Given the description of an element on the screen output the (x, y) to click on. 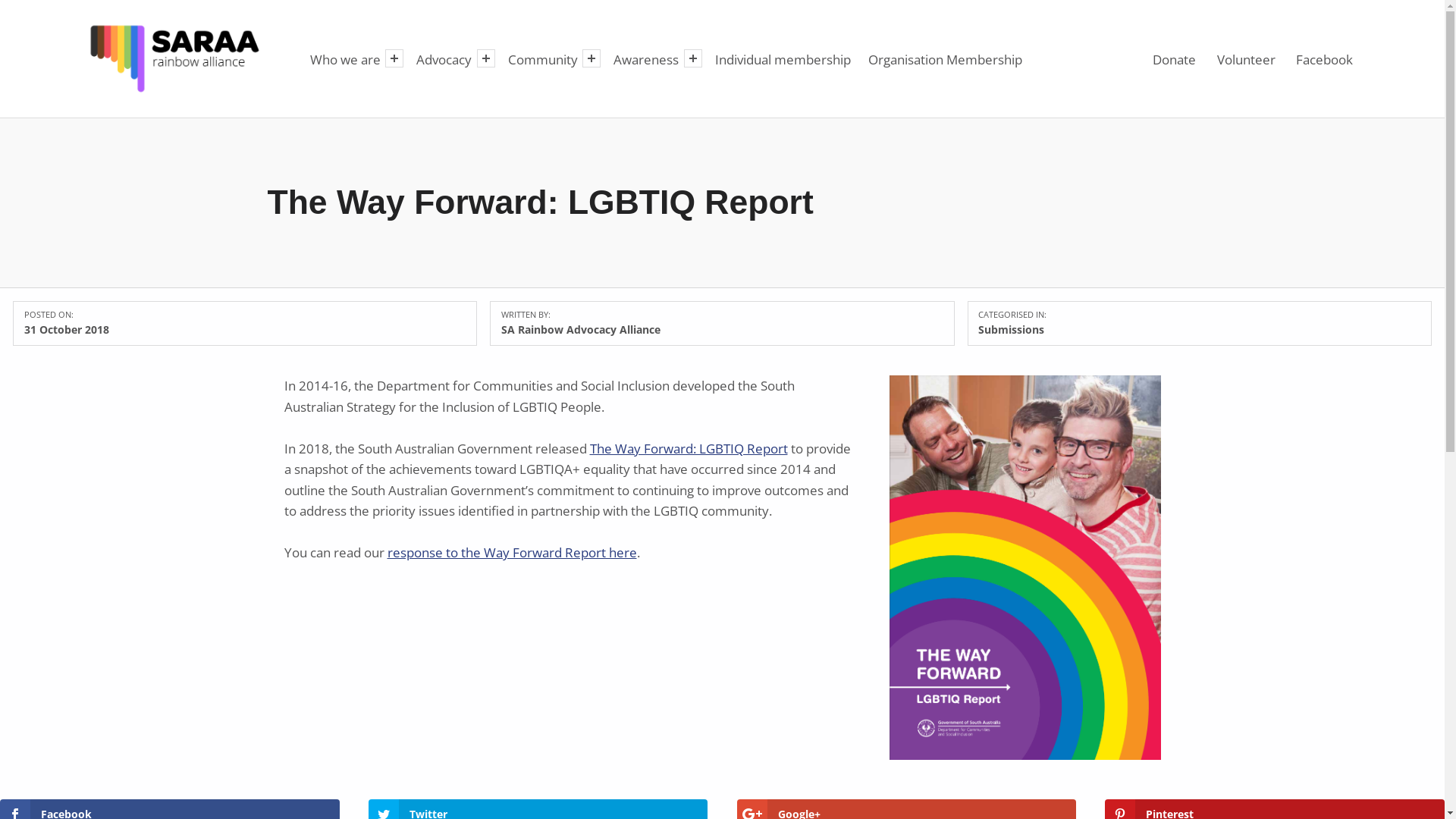
Donate Element type: text (1174, 58)
Individual membership Element type: text (782, 58)
SA Rainbow Advocacy Alliance Element type: text (580, 329)
The Way Forward Element type: hover (1024, 567)
response to the Way Forward Report here Element type: text (511, 552)
Facebook Element type: text (1324, 58)
The Way Forward: LGBTIQ Report Element type: text (688, 448)
Volunteer Element type: text (1245, 58)
Who we are Element type: text (344, 58)
Awareness Element type: text (646, 58)
SARAA Element type: text (270, 22)
Organisation Membership Element type: text (945, 58)
31 October 2018 Element type: text (66, 329)
Advocacy Element type: text (443, 58)
Community Element type: text (542, 58)
Submissions Element type: text (1011, 329)
